Given the description of an element on the screen output the (x, y) to click on. 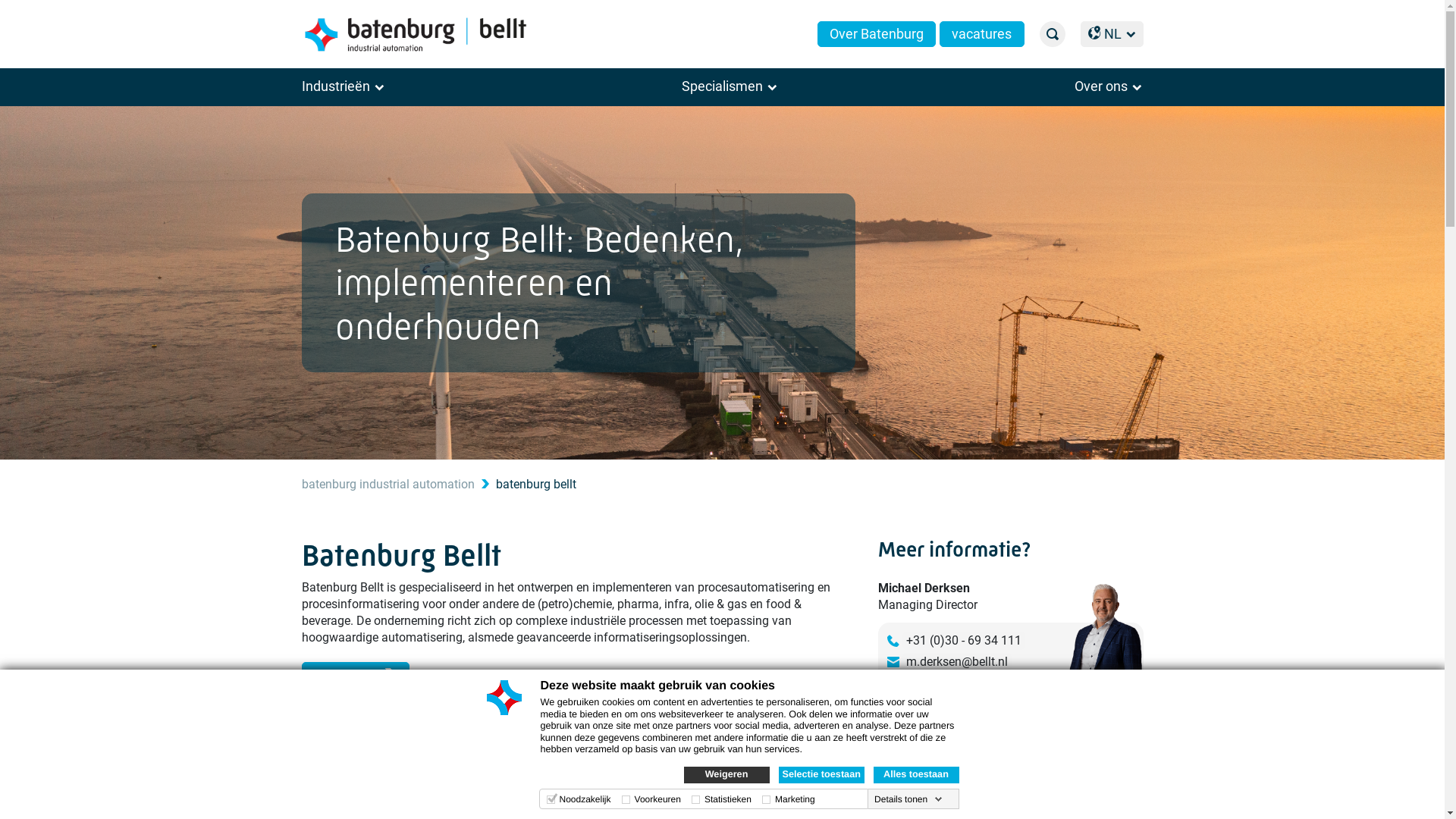
Details tonen Element type: text (908, 799)
Lees meer Element type: text (355, 674)
Alles toestaan Element type: text (916, 774)
Batenburg Bellt Element type: hover (418, 34)
Selectie toestaan Element type: text (820, 774)
Over ons Element type: text (1108, 86)
Weigeren Element type: text (726, 774)
Specialismen Element type: text (729, 86)
batenburg industrial automation Element type: text (387, 483)
NL Element type: text (1110, 34)
vacatures Element type: text (981, 34)
Over Batenburg Element type: text (876, 34)
+31 (0)30 - 69 34 111 Element type: text (963, 640)
m.derksen@bellt.nl Element type: text (956, 661)
